Given the description of an element on the screen output the (x, y) to click on. 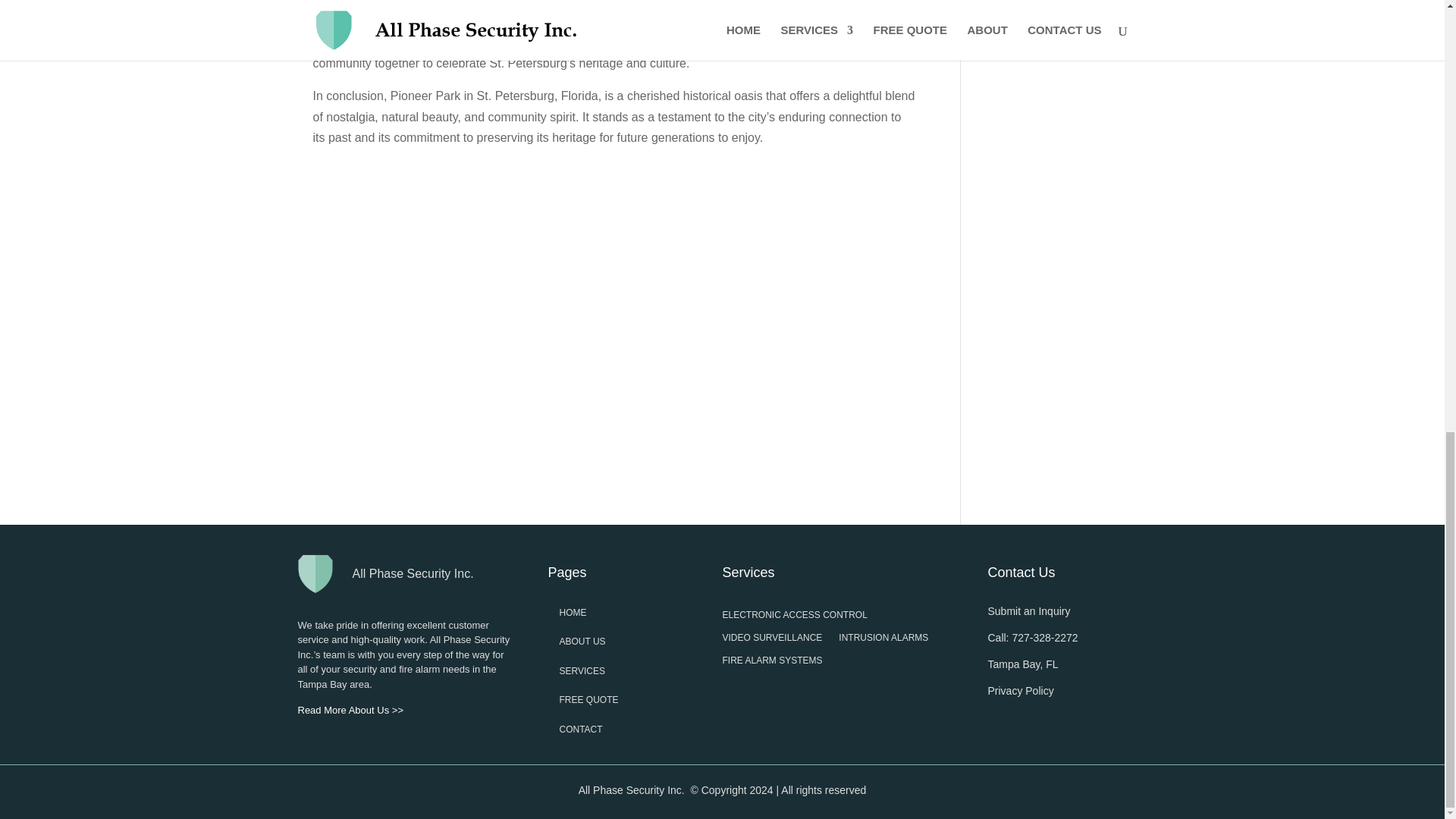
INTRUSION ALARMS (883, 640)
FIRE ALARM SYSTEMS (772, 663)
Privacy Policy (1019, 690)
ABOUT US (582, 641)
HOME (572, 612)
Submit an Inquiry (1028, 611)
FREE QUOTE (588, 699)
Tampa Bay, FL (1022, 664)
CONTACT (580, 728)
Call: 727-328-2272 (1032, 637)
